Given the description of an element on the screen output the (x, y) to click on. 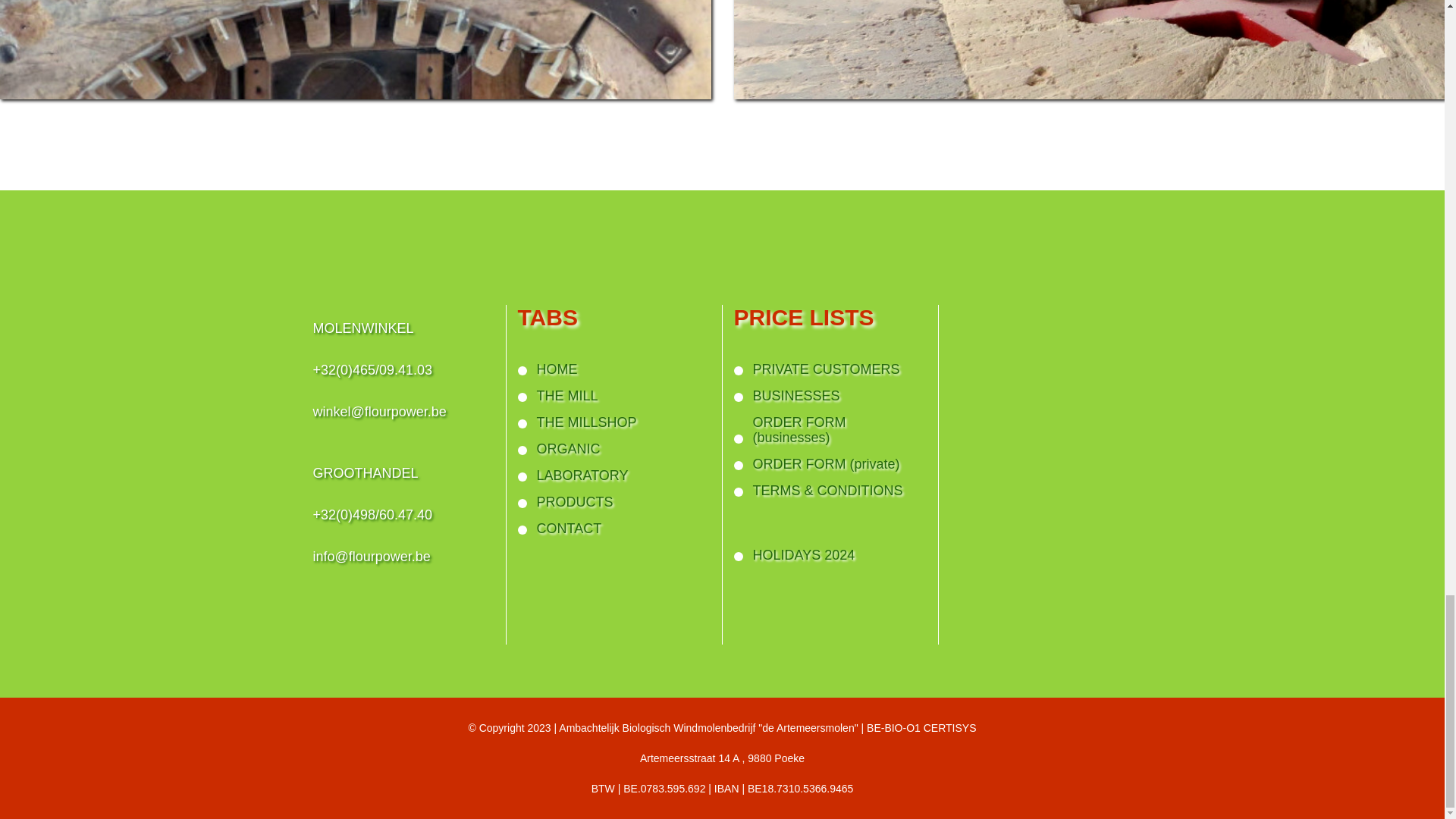
LABORATORY (613, 480)
PRIVATE CUSTOMERS (829, 374)
CONTACT (613, 533)
THE MILL (613, 401)
PRODUCTS (613, 507)
ORGANIC (613, 454)
HOME (613, 374)
THE MILLSHOP (613, 427)
BUSINESSES (829, 401)
HOLIDAYS 2024 (829, 560)
